Given the description of an element on the screen output the (x, y) to click on. 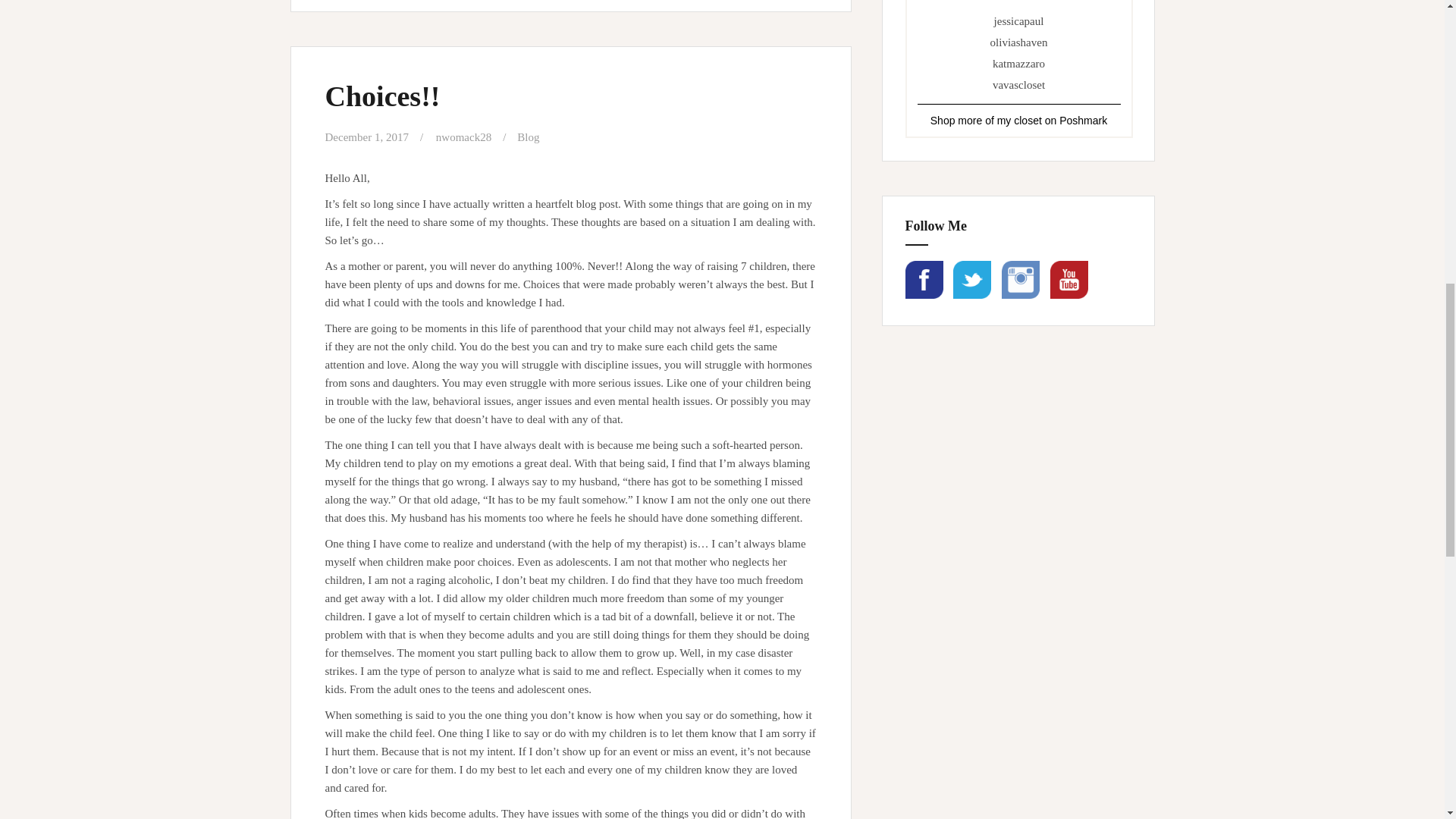
jessicapaul (1018, 21)
katmazzaro (1018, 63)
December 1, 2017 (365, 137)
Choices!! (381, 96)
Blog (527, 137)
nwomack28 (463, 137)
Poshmark (1082, 120)
nwomack9 (1019, 120)
my closet (1019, 120)
Poshmark (1082, 120)
oliviashaven (1019, 42)
vavascloset (1018, 84)
